Given the description of an element on the screen output the (x, y) to click on. 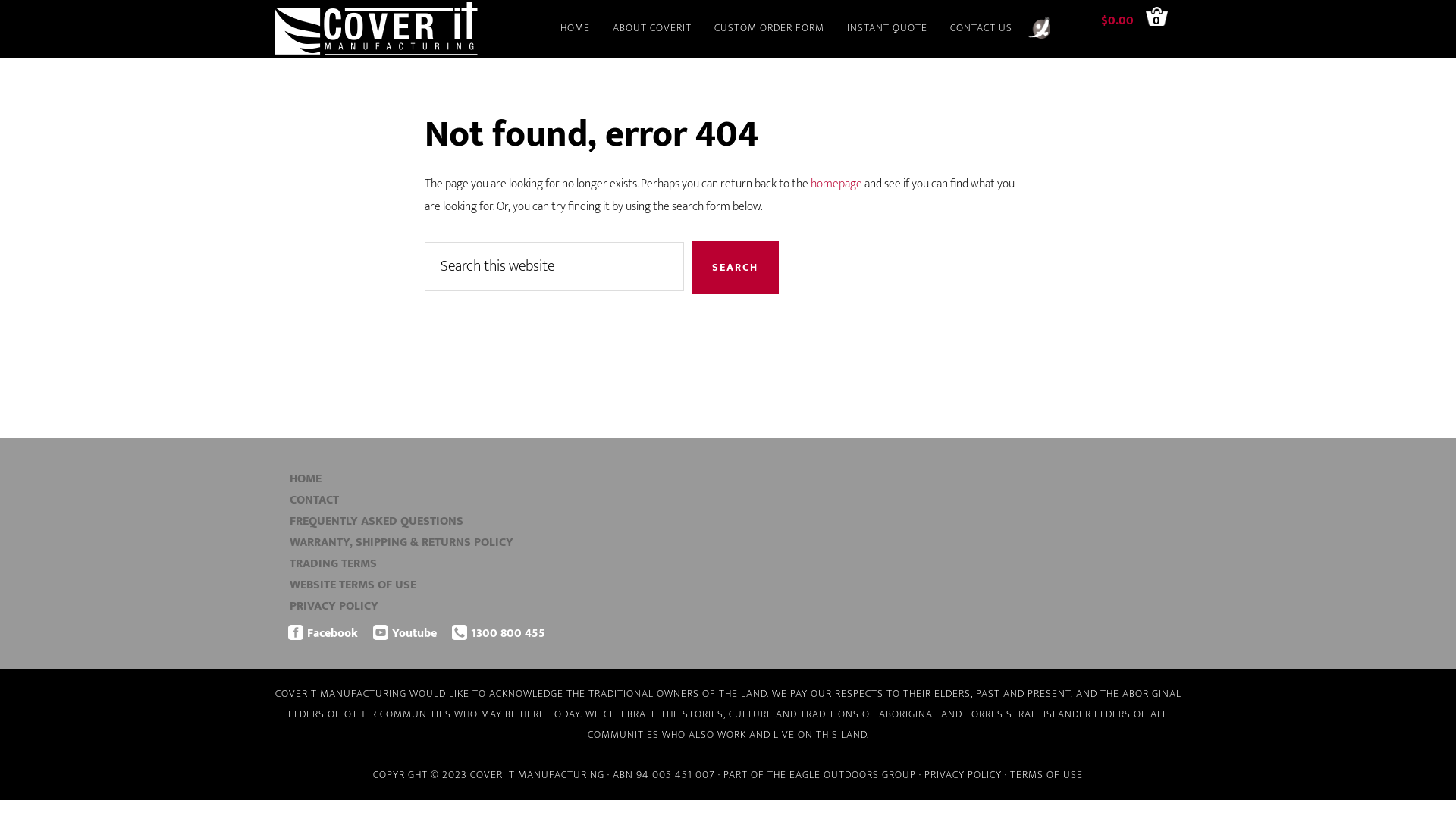
COVERIT MANUFACTURING Element type: text (409, 28)
Facebook Element type: text (332, 633)
CONTACT US Element type: text (980, 28)
WEBSITE TERMS OF USE Element type: text (352, 584)
homepage Element type: text (836, 183)
HOME Element type: text (575, 28)
WARRANTY, SHIPPING & RETURNS POLICY Element type: text (401, 542)
TERMS OF USE Element type: text (1046, 774)
CONTACT Element type: text (313, 499)
TRADING TERMS Element type: text (332, 563)
ABOUT COVERIT Element type: text (651, 28)
PRIVACY POLICY Element type: text (333, 606)
INSTANT QUOTE Element type: text (886, 28)
PRIVACY POLICY Element type: text (962, 774)
Search Element type: text (734, 267)
Skip to main content Element type: text (0, 0)
FREQUENTLY ASKED QUESTIONS Element type: text (376, 521)
CUSTOM ORDER FORM Element type: text (768, 28)
HOME Element type: text (305, 478)
Youtube Element type: text (414, 633)
EAGLE OUTDOORS GROUP Element type: text (1042, 28)
$0.00 Element type: text (1123, 20)
1300 800 455 Element type: text (507, 633)
